Given the description of an element on the screen output the (x, y) to click on. 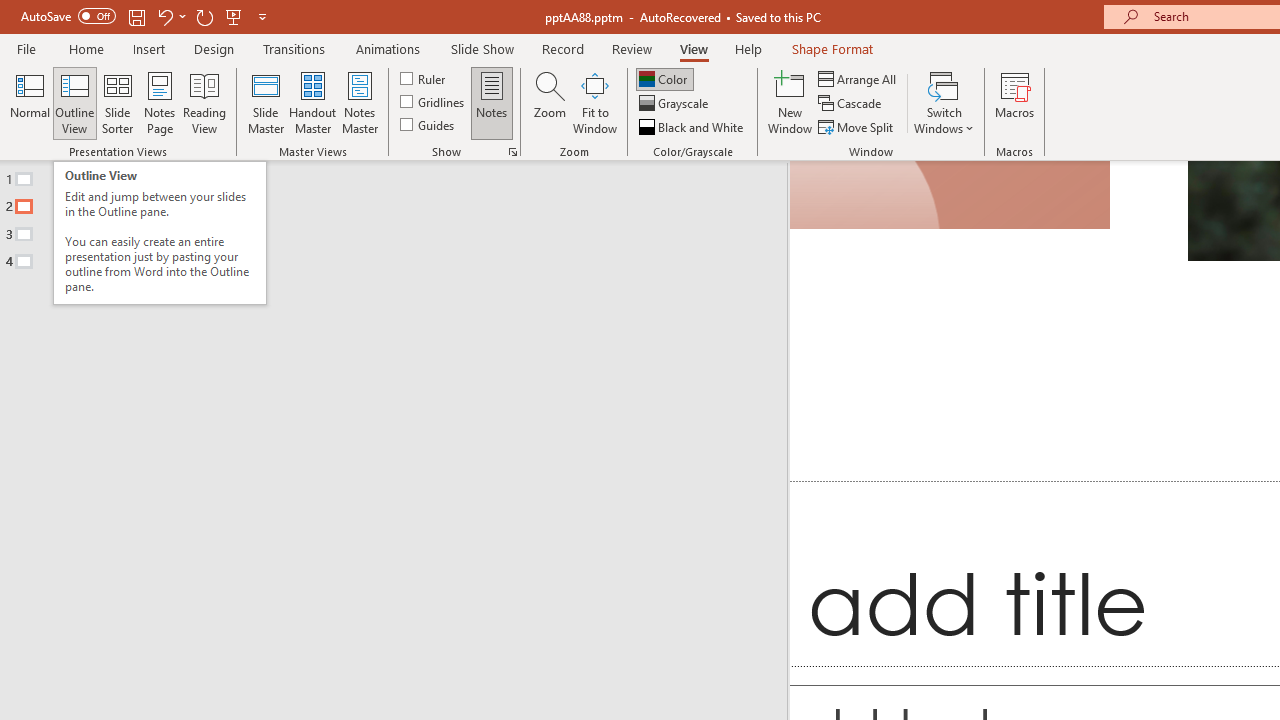
Grid Settings... (512, 151)
Switch Windows (943, 102)
Notes (492, 102)
